Given the description of an element on the screen output the (x, y) to click on. 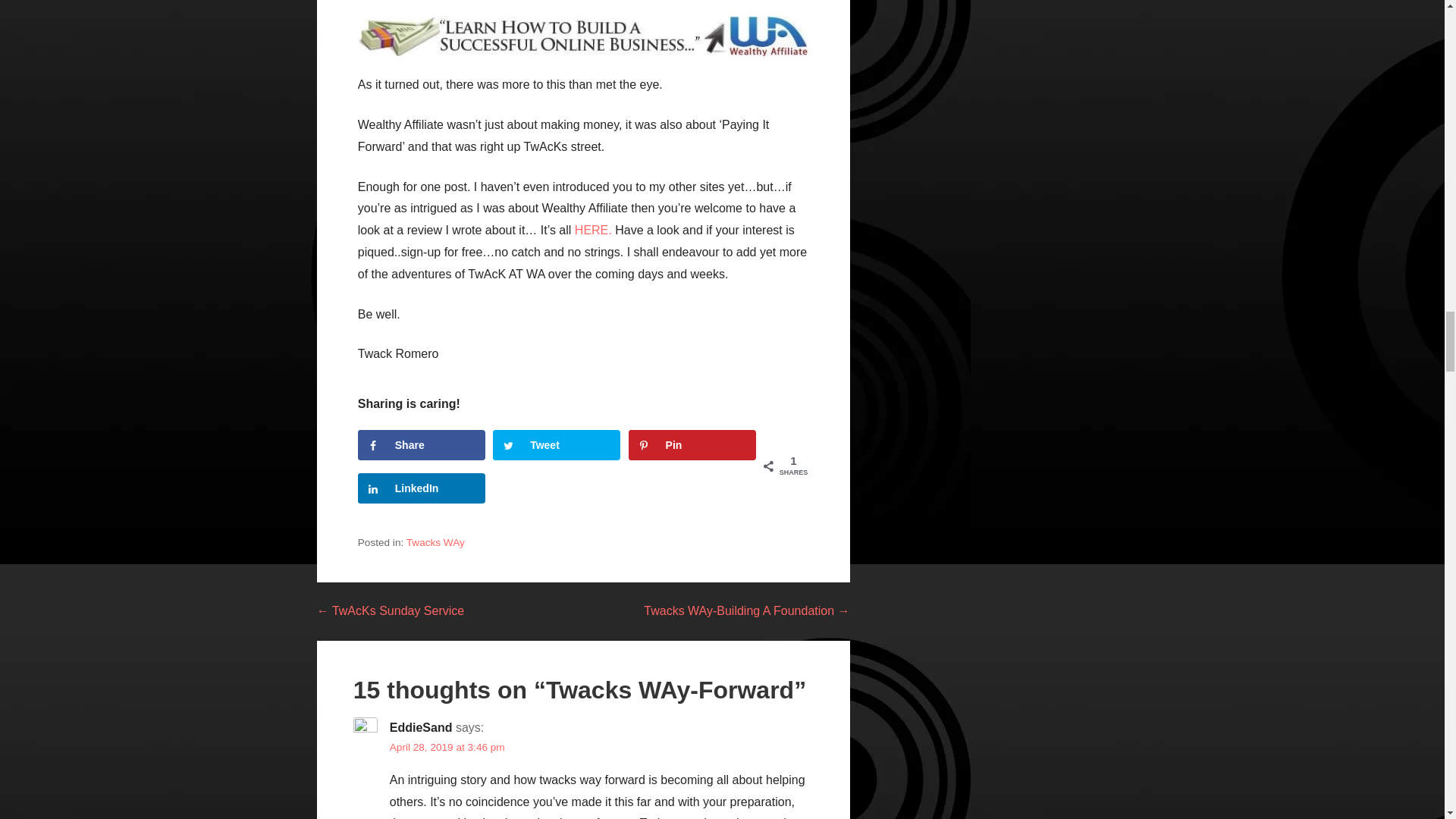
LinkedIn (421, 488)
Wealthy Affiliate Successful Business (583, 35)
Share on LinkedIn (421, 488)
Share (421, 444)
Twacks WAy (435, 542)
Share on Share (421, 444)
April 28, 2019 at 3:46 pm (447, 747)
Save to Pinterest (691, 444)
HERE. (593, 229)
Pin (691, 444)
Tweet (556, 444)
Share on Tweet (556, 444)
